Given the description of an element on the screen output the (x, y) to click on. 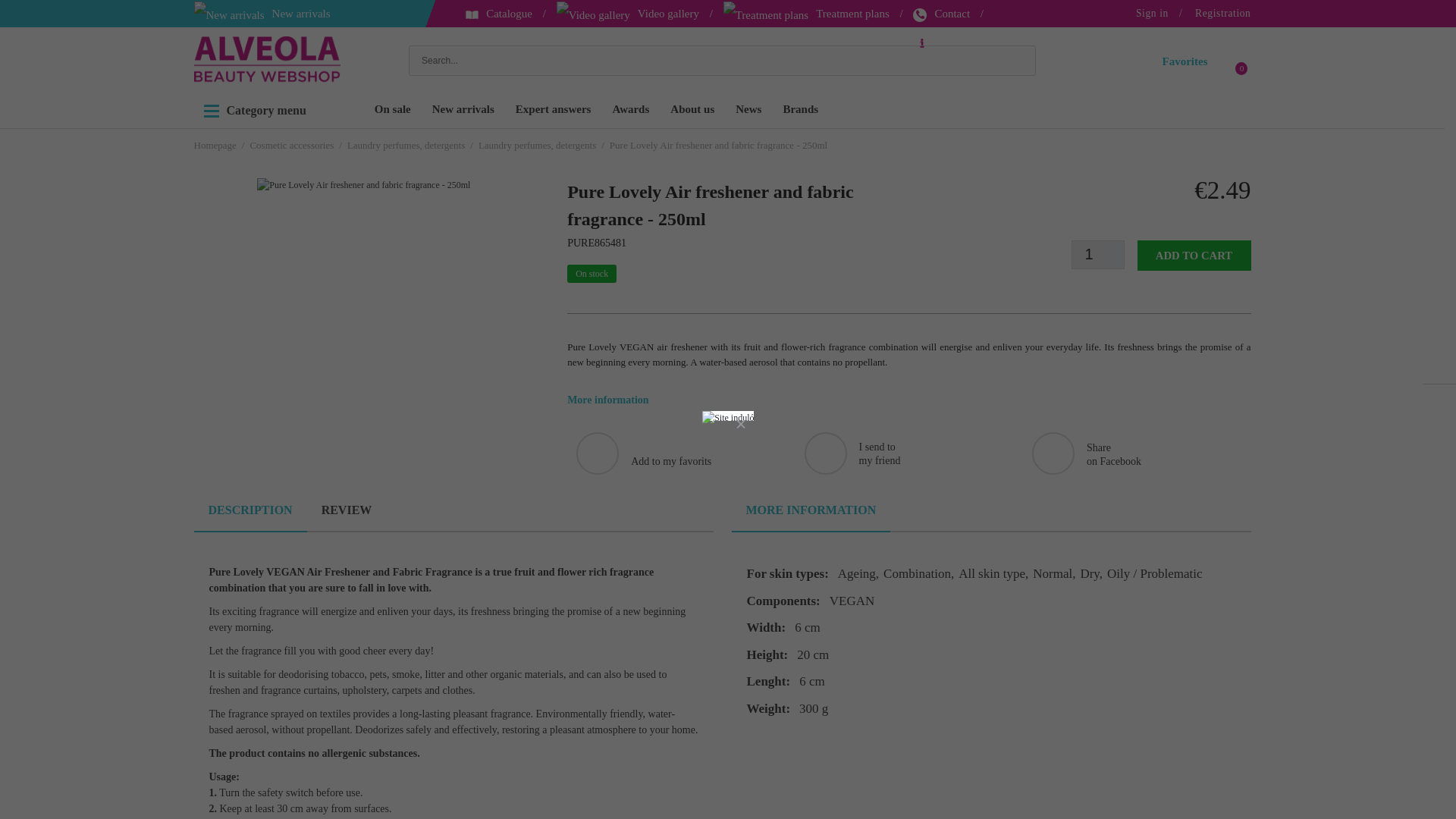
1 (1088, 254)
